Given the description of an element on the screen output the (x, y) to click on. 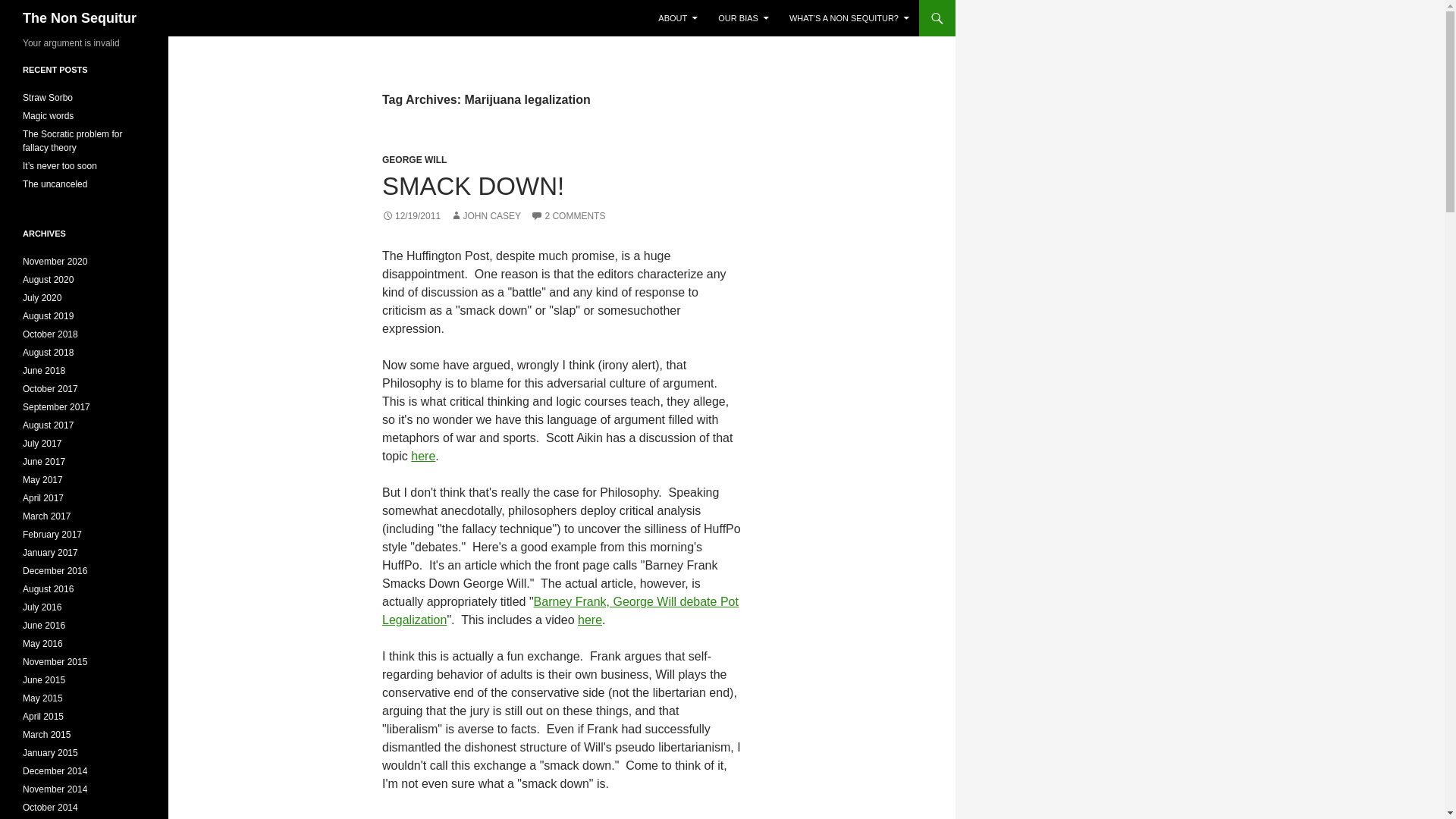
Magic words (48, 115)
July 2020 (42, 297)
GEORGE WILL (413, 159)
November 2020 (55, 261)
Barney Frank, George Will debate Pot Legalization (559, 610)
JOHN CASEY (485, 215)
The uncanceled (55, 184)
August 2019 (48, 316)
OUR BIAS (743, 18)
here (590, 619)
